Given the description of an element on the screen output the (x, y) to click on. 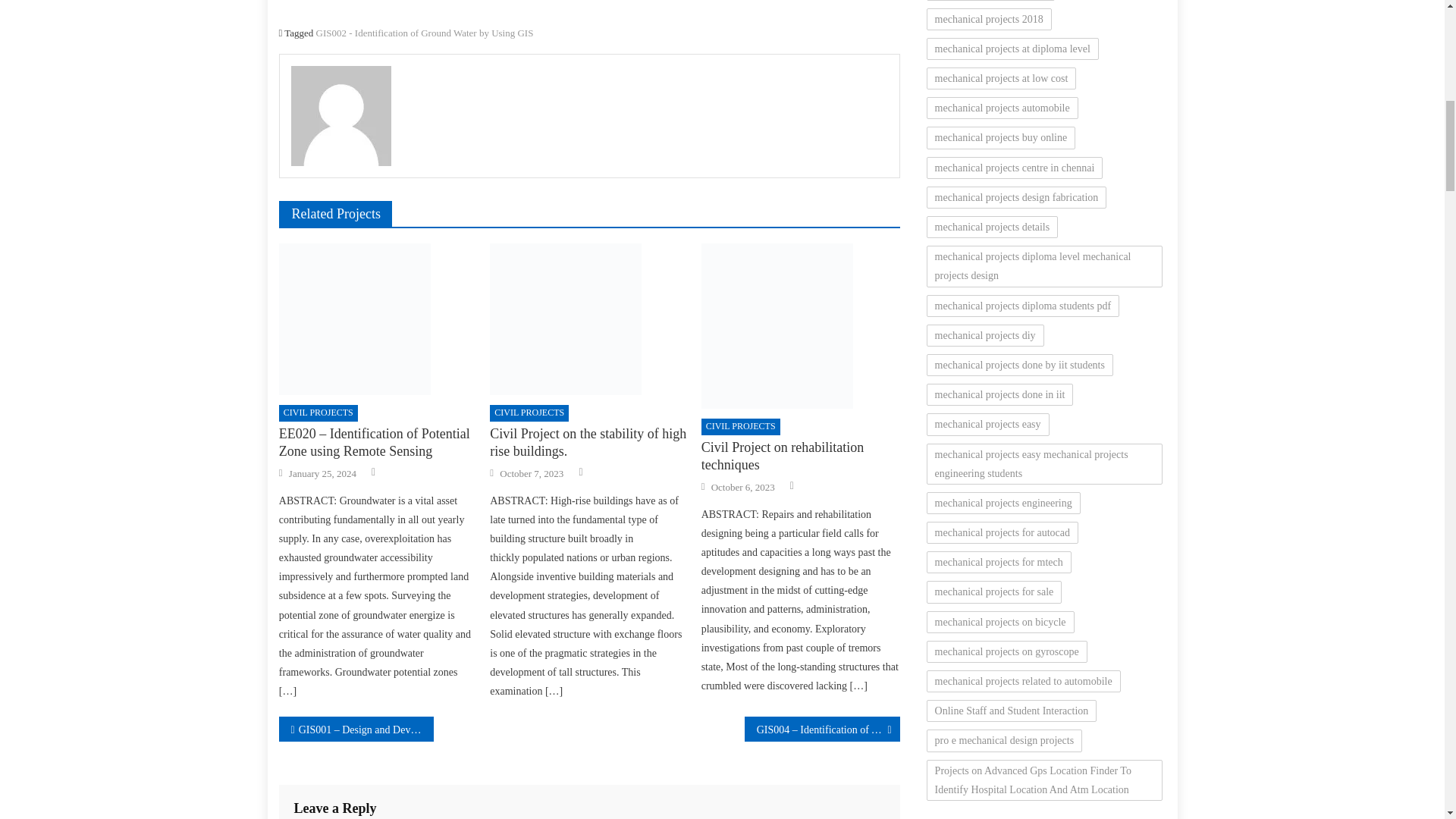
Civil Project on the stability of high rise buildings. (588, 318)
Civil Project on rehabilitation techniques (800, 325)
